Given the description of an element on the screen output the (x, y) to click on. 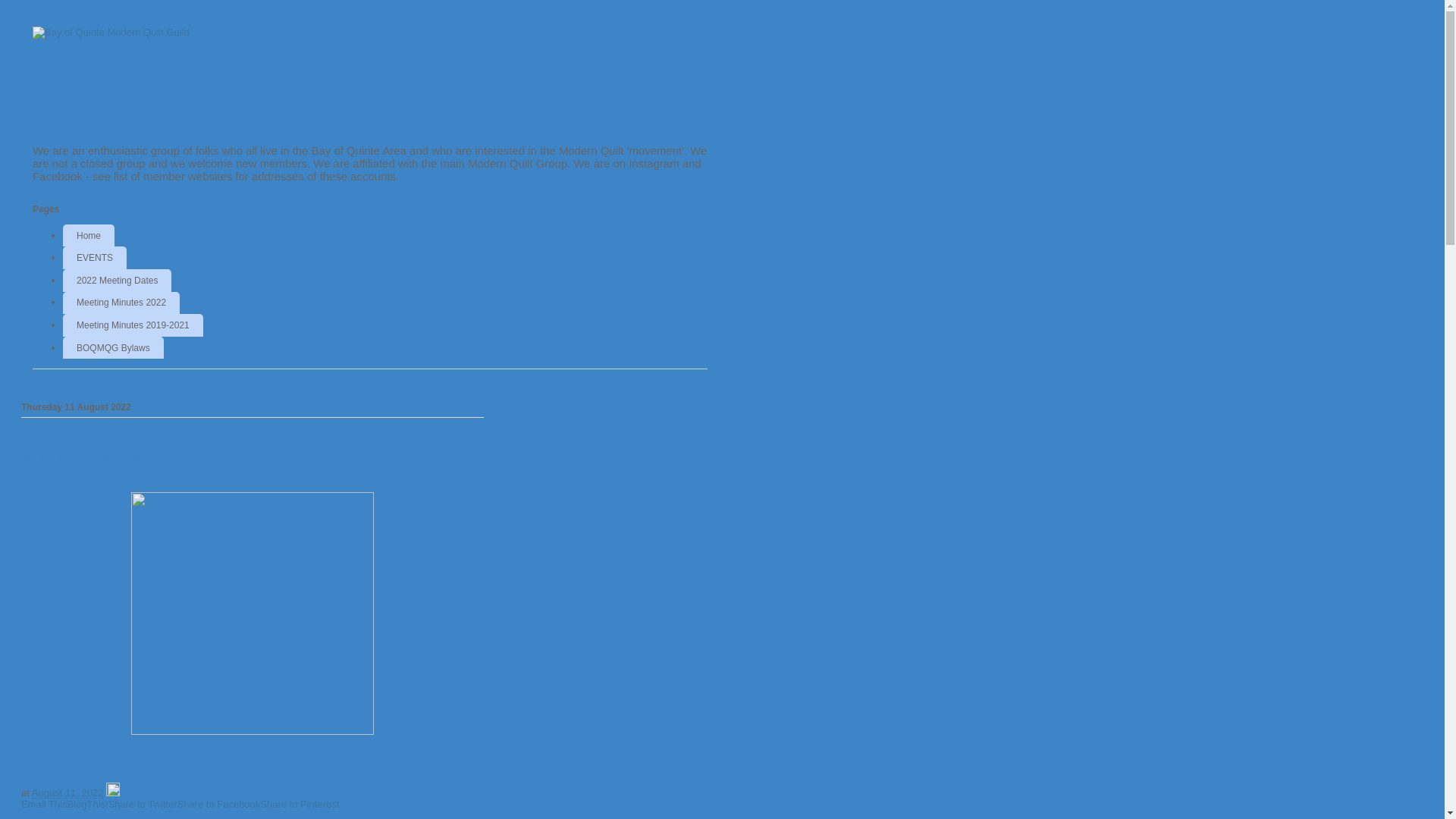
BOQMQG Bylaws Element type: text (112, 347)
Share to Twitter Element type: text (142, 803)
Meeting Minutes 2022 Element type: text (120, 302)
Home Element type: text (88, 235)
EVENTS Element type: text (94, 257)
Share to Facebook Element type: text (218, 803)
Edit Post Element type: hover (112, 792)
2022 Meeting Dates Element type: text (116, 280)
August 11, 2022 Element type: text (67, 792)
BlogThis! Element type: text (86, 803)
Meeting Minutes 2019-2021 Element type: text (132, 324)
Email This Element type: text (43, 803)
Share to Pinterest Element type: text (299, 803)
